Given the description of an element on the screen output the (x, y) to click on. 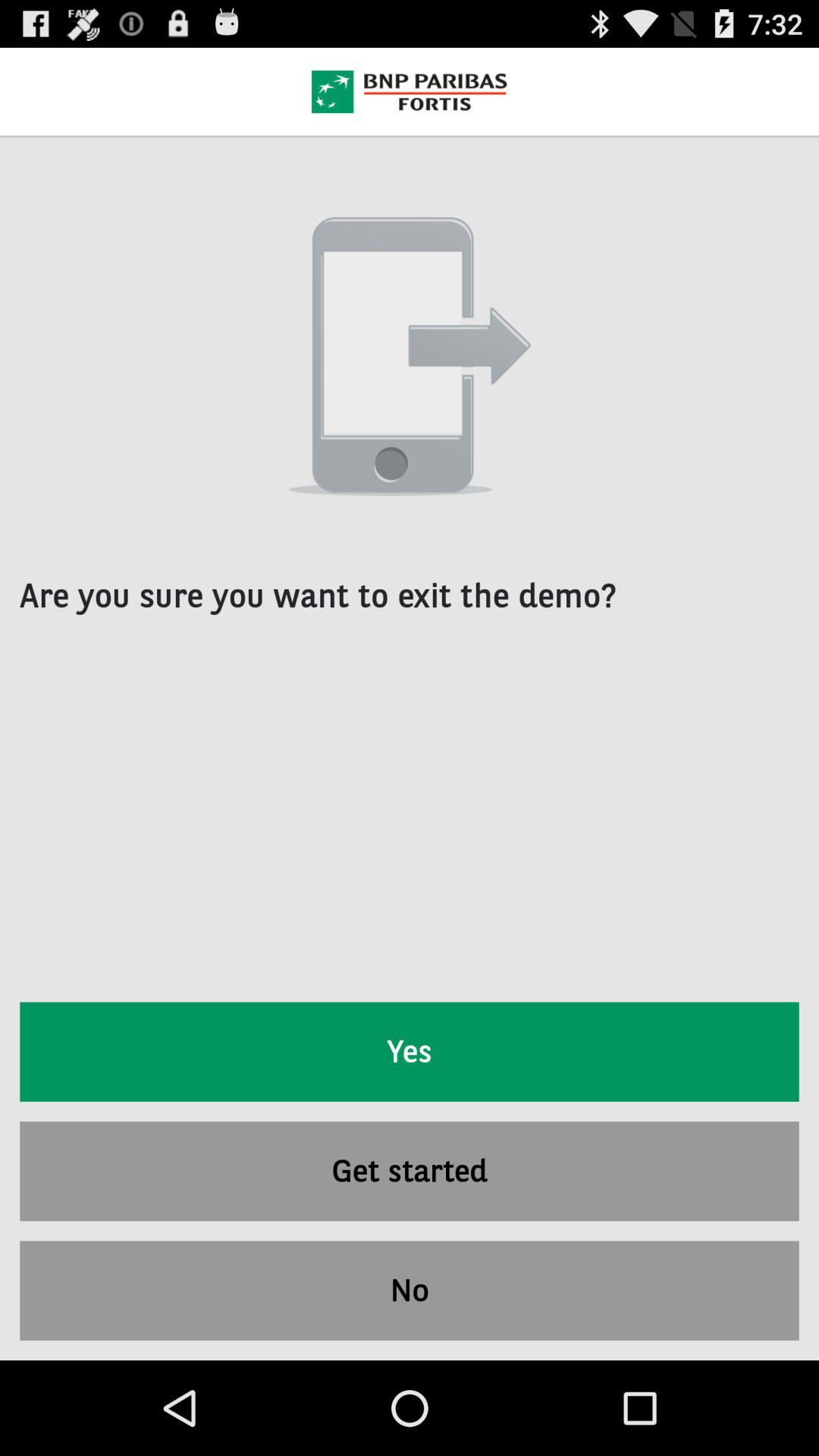
scroll to yes icon (409, 1051)
